Given the description of an element on the screen output the (x, y) to click on. 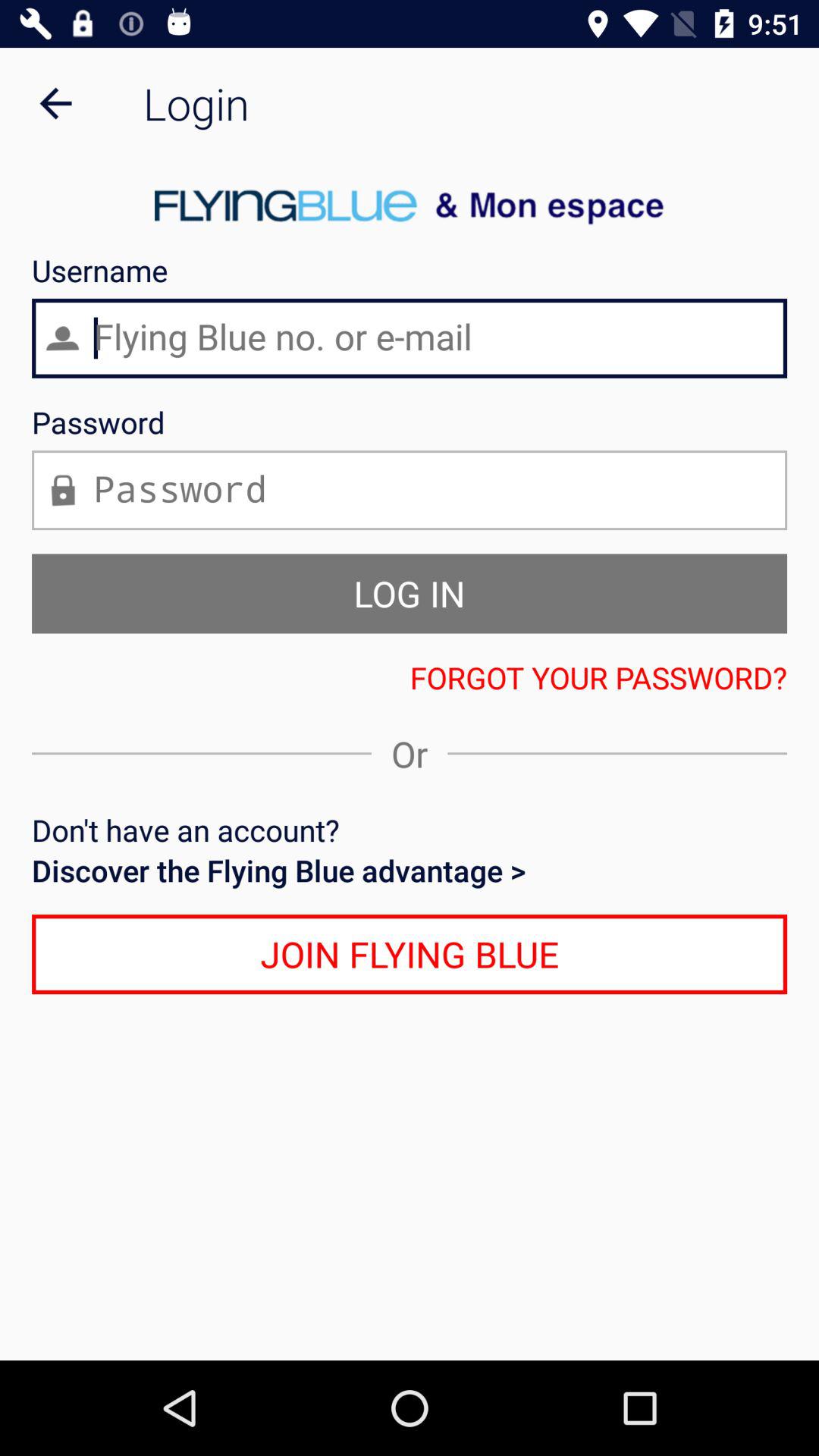
open item to the left of login icon (55, 103)
